Given the description of an element on the screen output the (x, y) to click on. 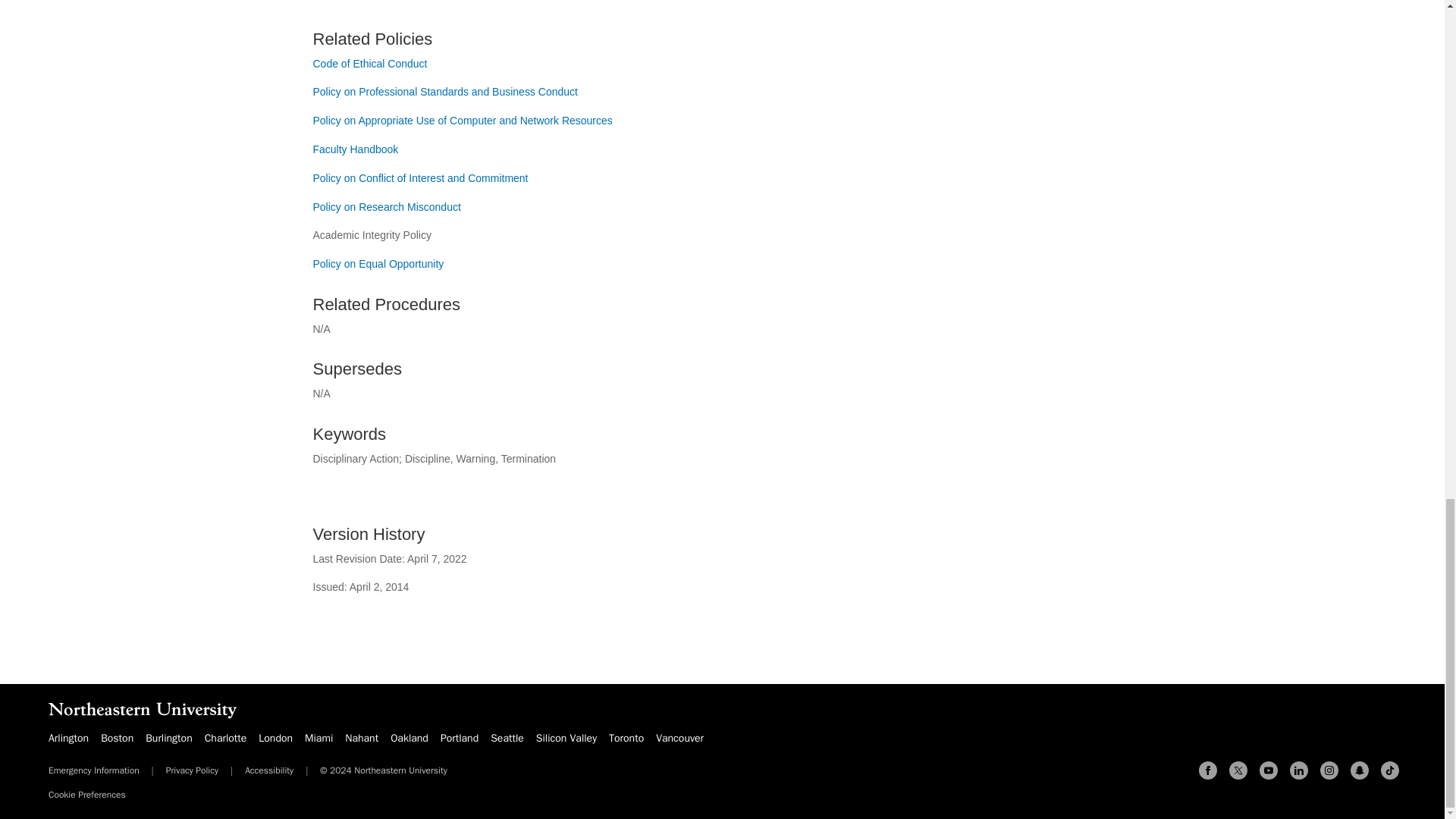
Instagram (1329, 770)
YouTube (1268, 770)
TikTok (1389, 770)
Linkedin (1298, 770)
Snapchat (1359, 770)
Facebook (1207, 770)
